Given the description of an element on the screen output the (x, y) to click on. 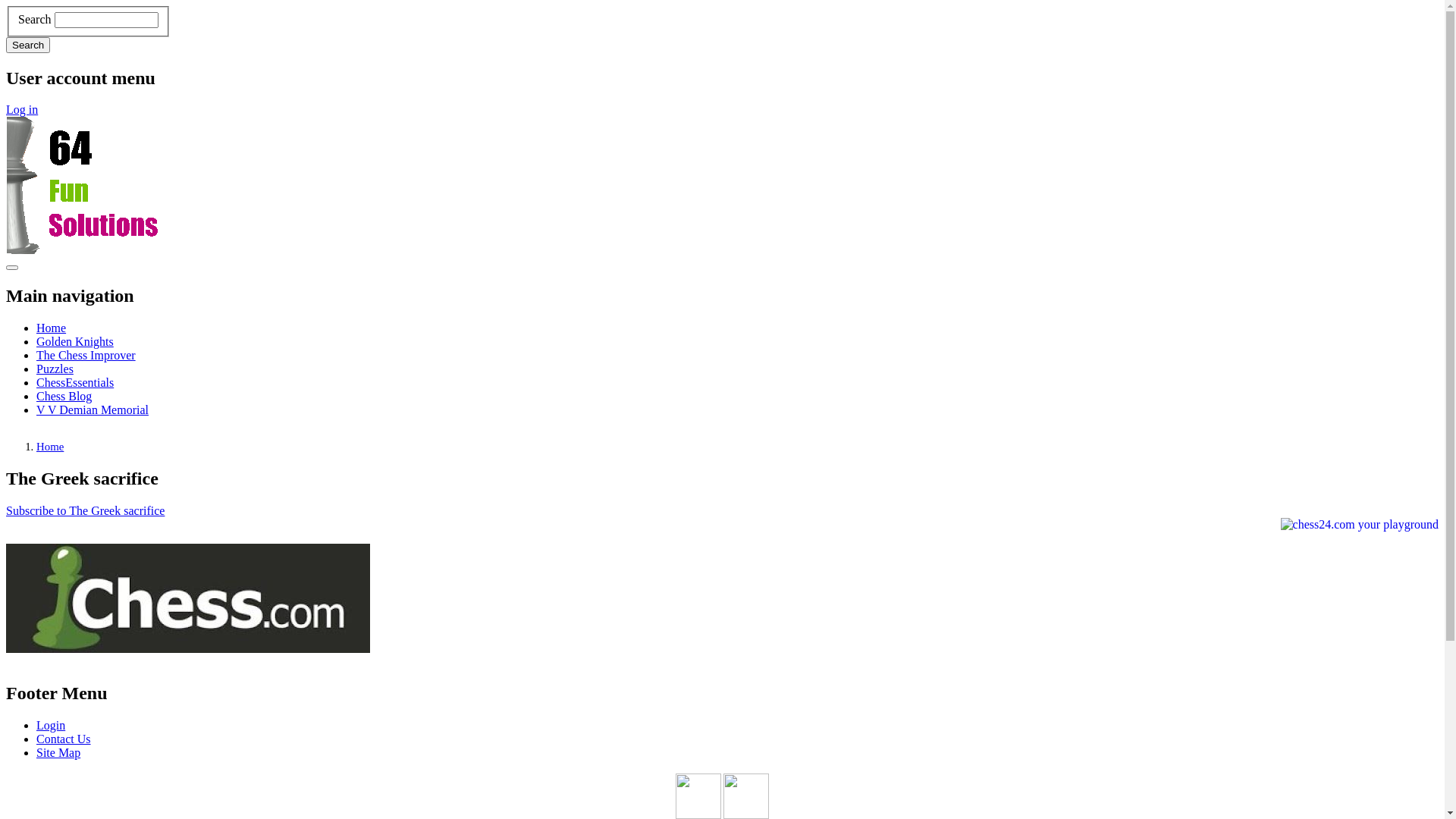
Skip to main content Element type: text (6, 6)
Search Element type: text (28, 45)
Enter the terms you wish to search for. Element type: hover (106, 20)
V V Demian Memorial Element type: text (92, 409)
Puzzles Element type: text (54, 368)
Site Map Element type: text (58, 752)
Subscribe to The Greek sacrifice Element type: text (85, 510)
Golden Knights Element type: text (74, 341)
Log in Element type: text (21, 109)
ChessEssentials Element type: text (74, 382)
Chess Blog Element type: text (63, 395)
The Chess Improver Element type: text (85, 354)
Home Element type: text (49, 446)
Contact Us Element type: text (63, 738)
Home Element type: hover (81, 249)
Login Element type: text (50, 724)
Home Element type: text (50, 327)
